Given the description of an element on the screen output the (x, y) to click on. 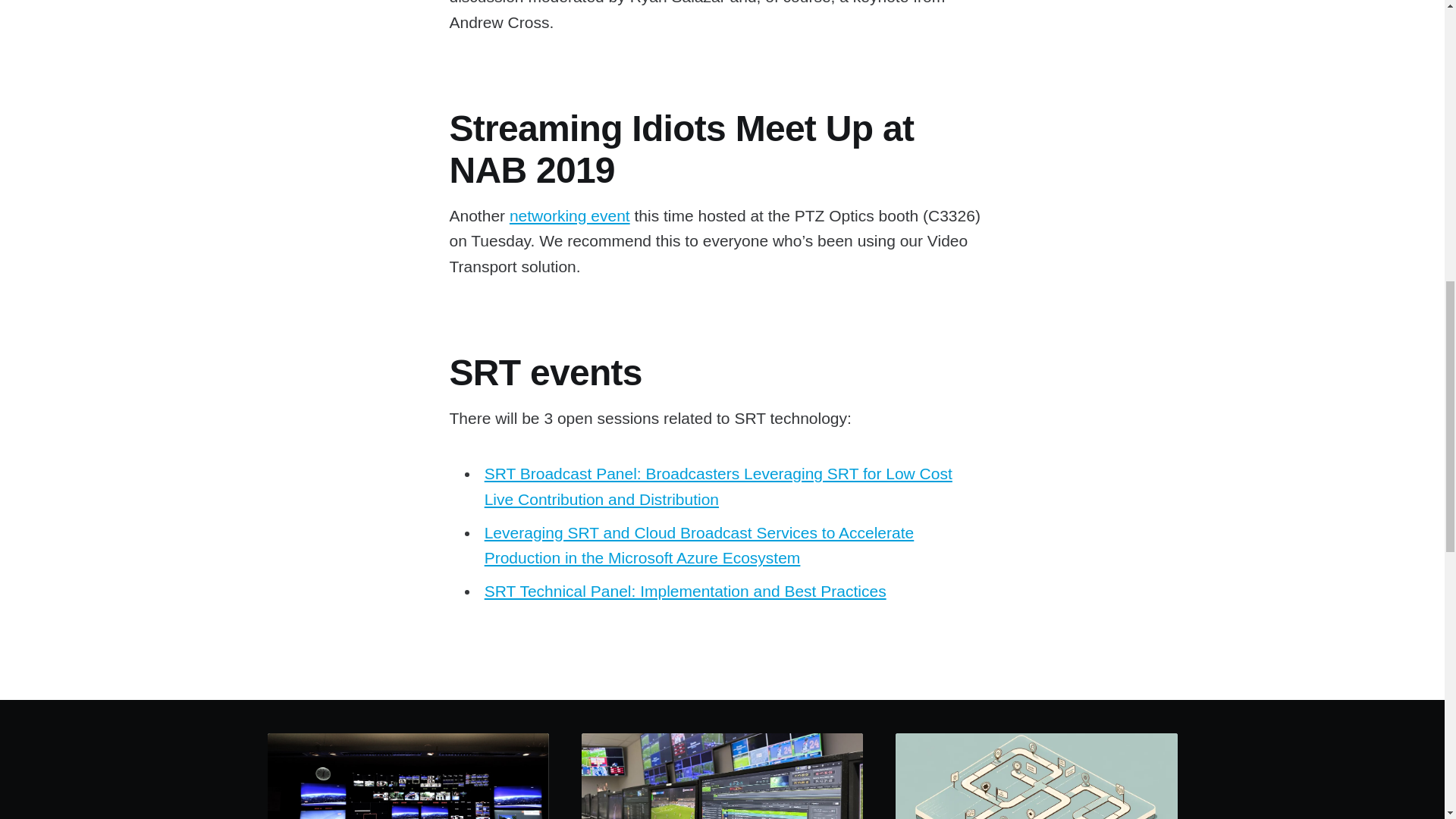
SRT Technical Panel: Implementation and Best Practices (685, 590)
networking event (569, 215)
